Given the description of an element on the screen output the (x, y) to click on. 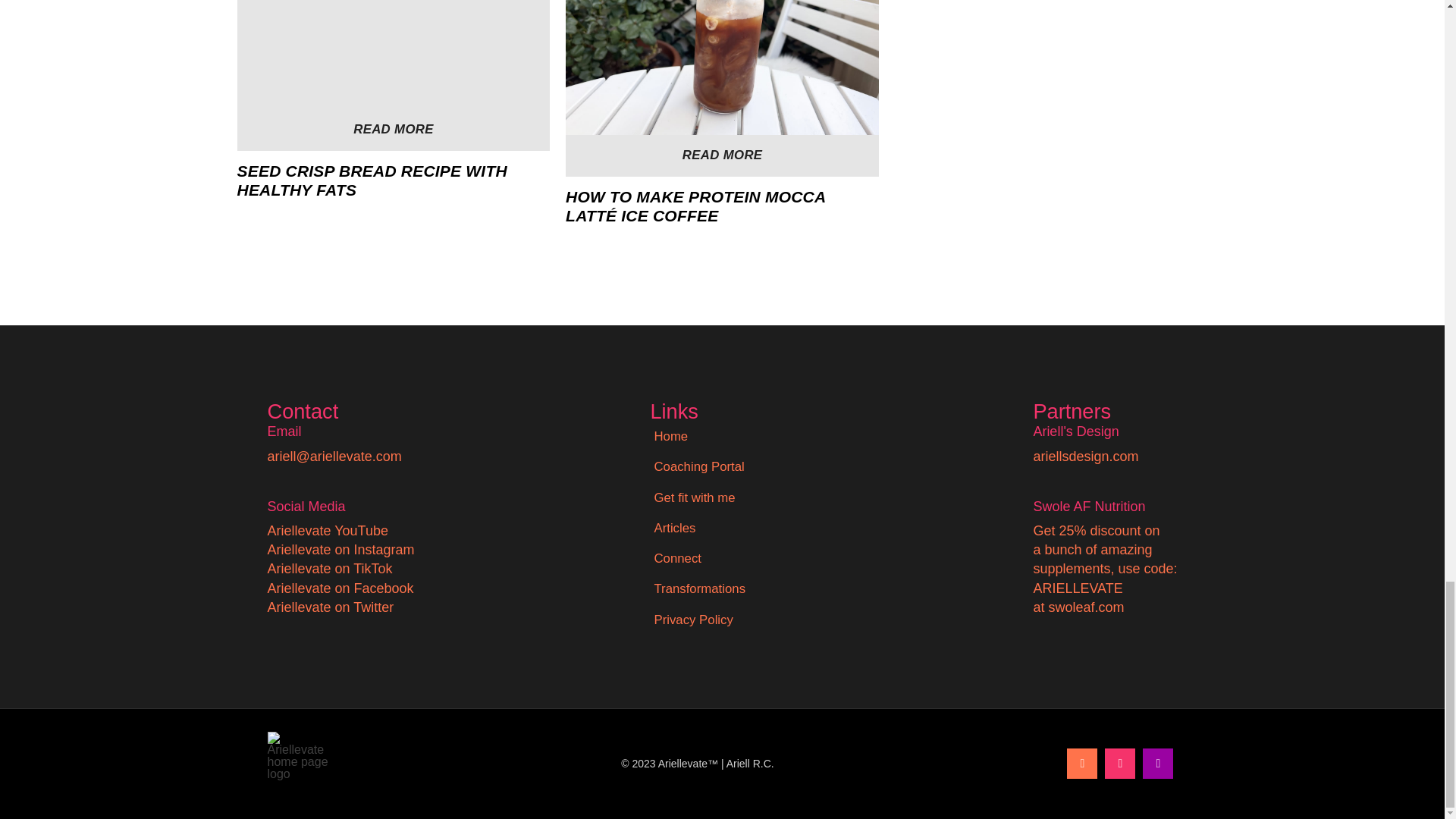
Ariellevate on Facebook (339, 588)
Home (670, 436)
Connect (676, 558)
ariellsdesign.com (1085, 456)
Privacy Policy (692, 620)
Articles (673, 528)
Get fit with me (693, 498)
Ariellevate YouTube (326, 530)
Ariellevate on Instagram (339, 549)
Ariellevate on TikTok (328, 568)
